Given the description of an element on the screen output the (x, y) to click on. 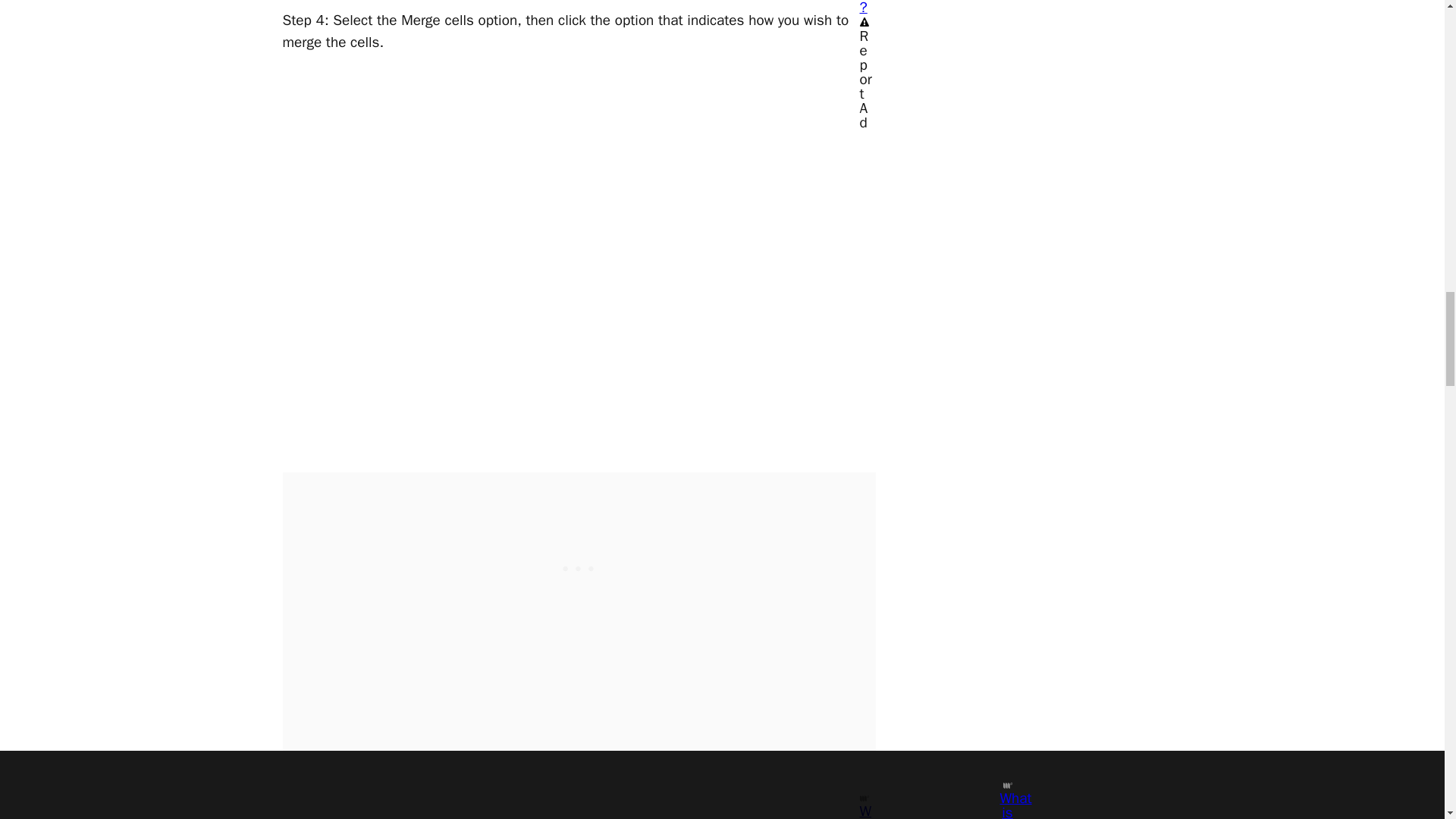
3rd party ad content (579, 566)
